Given the description of an element on the screen output the (x, y) to click on. 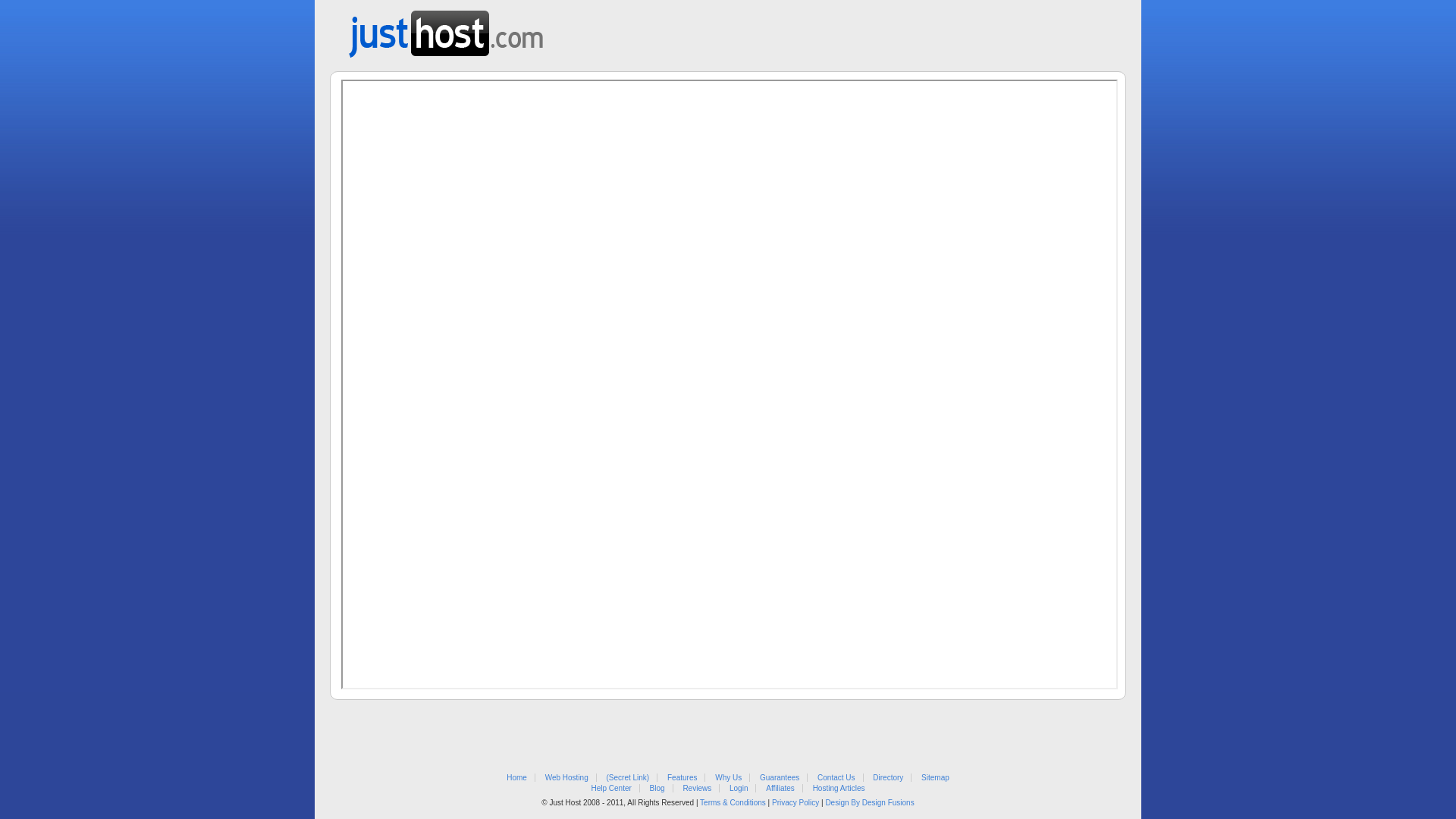
Terms & Conditions Element type: text (732, 802)
Login Element type: text (738, 788)
Directory Element type: text (887, 777)
Web Hosting from Just Host Element type: text (445, 28)
Reviews Element type: text (696, 788)
Blog Element type: text (657, 788)
Hosting Articles Element type: text (838, 788)
Design By Design Fusions Element type: text (869, 802)
Sitemap Element type: text (935, 777)
Privacy Policy Element type: text (795, 802)
Why Us Element type: text (728, 777)
Help Center Element type: text (610, 788)
Features Element type: text (681, 777)
Guarantees Element type: text (779, 777)
Affiliates Element type: text (779, 788)
Contact Us Element type: text (835, 777)
Web Hosting Element type: text (566, 777)
(Secret Link) Element type: text (627, 777)
Home Element type: text (516, 777)
